Given the description of an element on the screen output the (x, y) to click on. 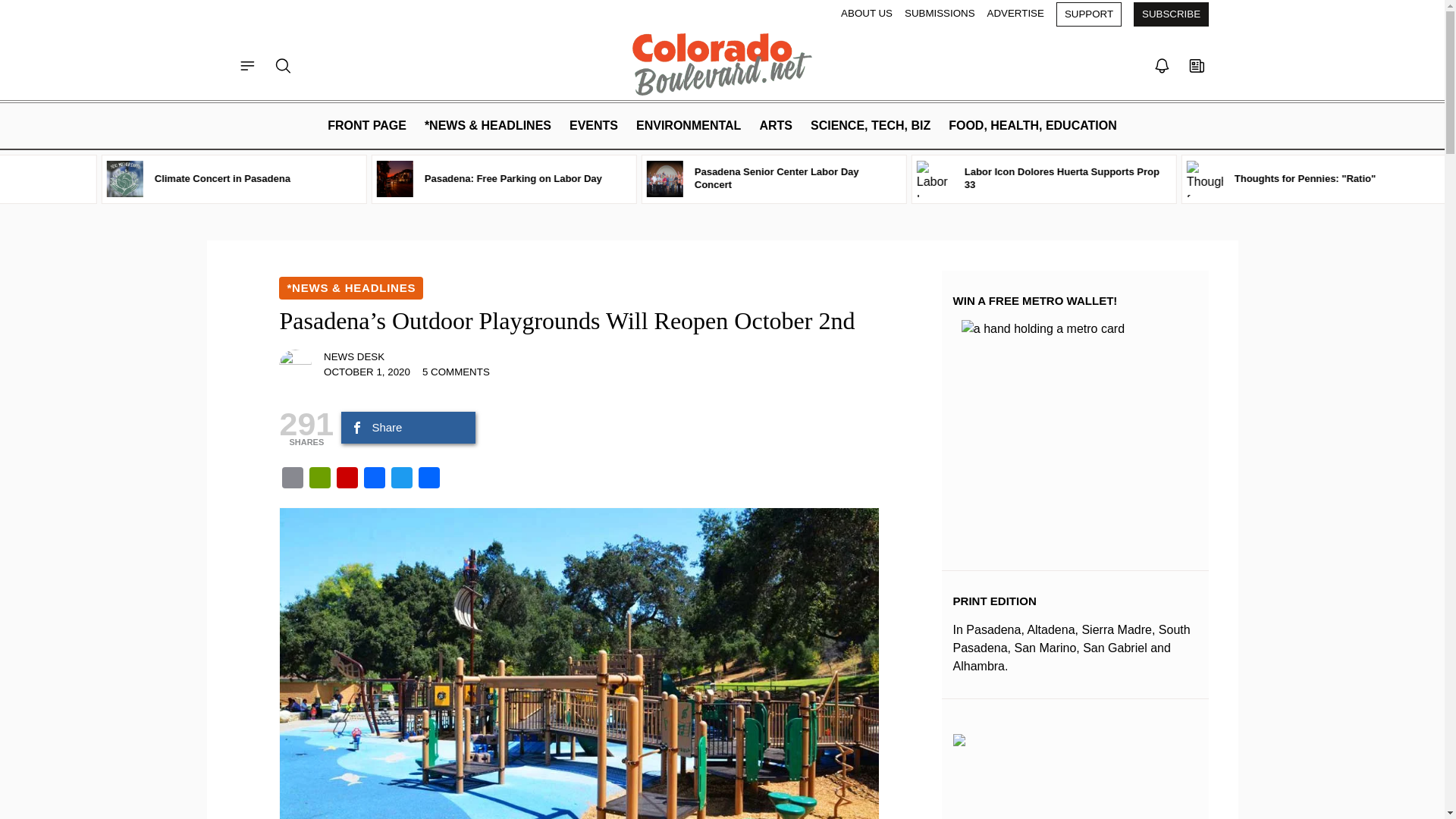
SCIENCE, TECH, BIZ (870, 125)
Pasadena Senior Center Labor Day Concert (893, 178)
EVENTS (593, 125)
Pasadena: Free Parking on Labor Day (625, 178)
Pasadena Events (593, 125)
ARTS (774, 125)
ENVIRONMENTAL (688, 125)
SUPPORT (1089, 14)
FRONT PAGE (366, 125)
Happy Labor Day (110, 178)
